Given the description of an element on the screen output the (x, y) to click on. 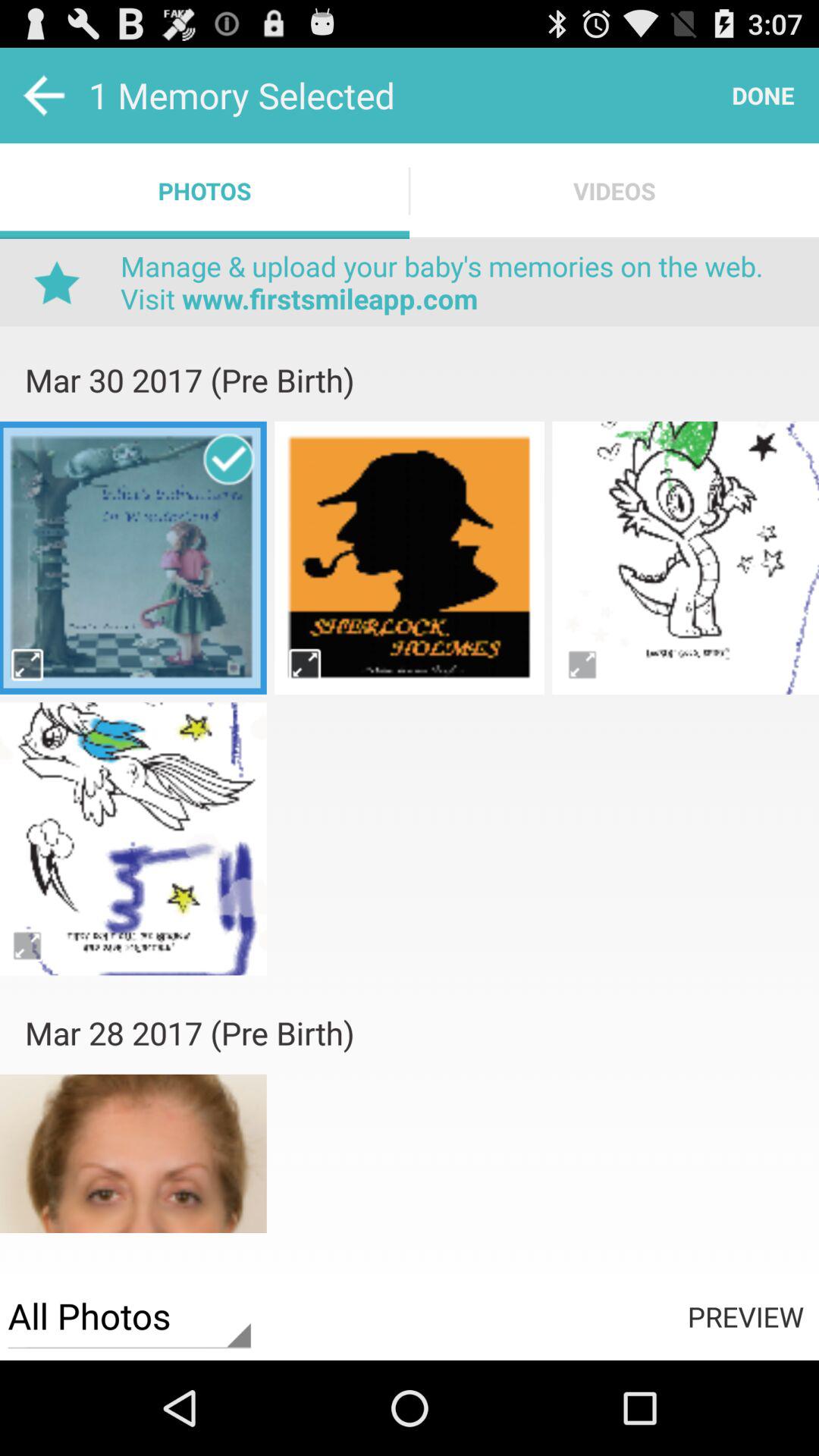
gallery photos (685, 557)
